Given the description of an element on the screen output the (x, y) to click on. 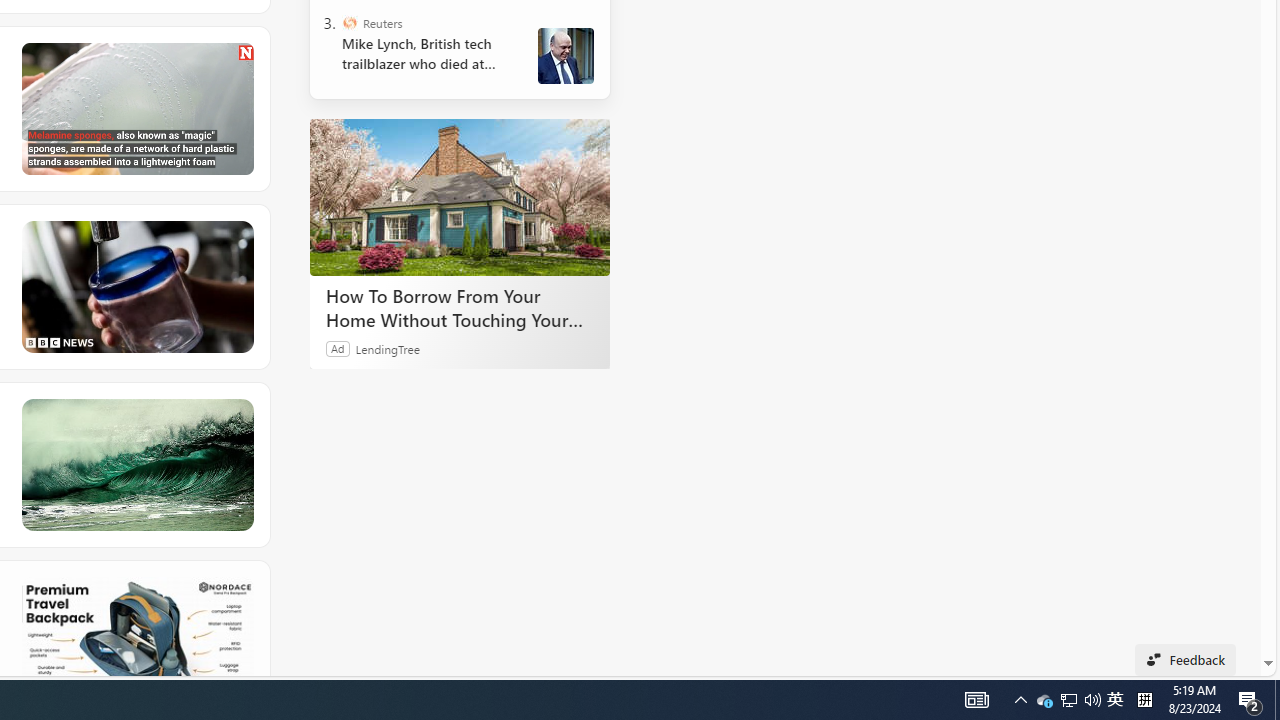
These Cities Are About to Run Out of Clean Drinking Water (136, 286)
Reuters (349, 22)
Class: hero-image (136, 108)
LendingTree (387, 348)
